Given the description of an element on the screen output the (x, y) to click on. 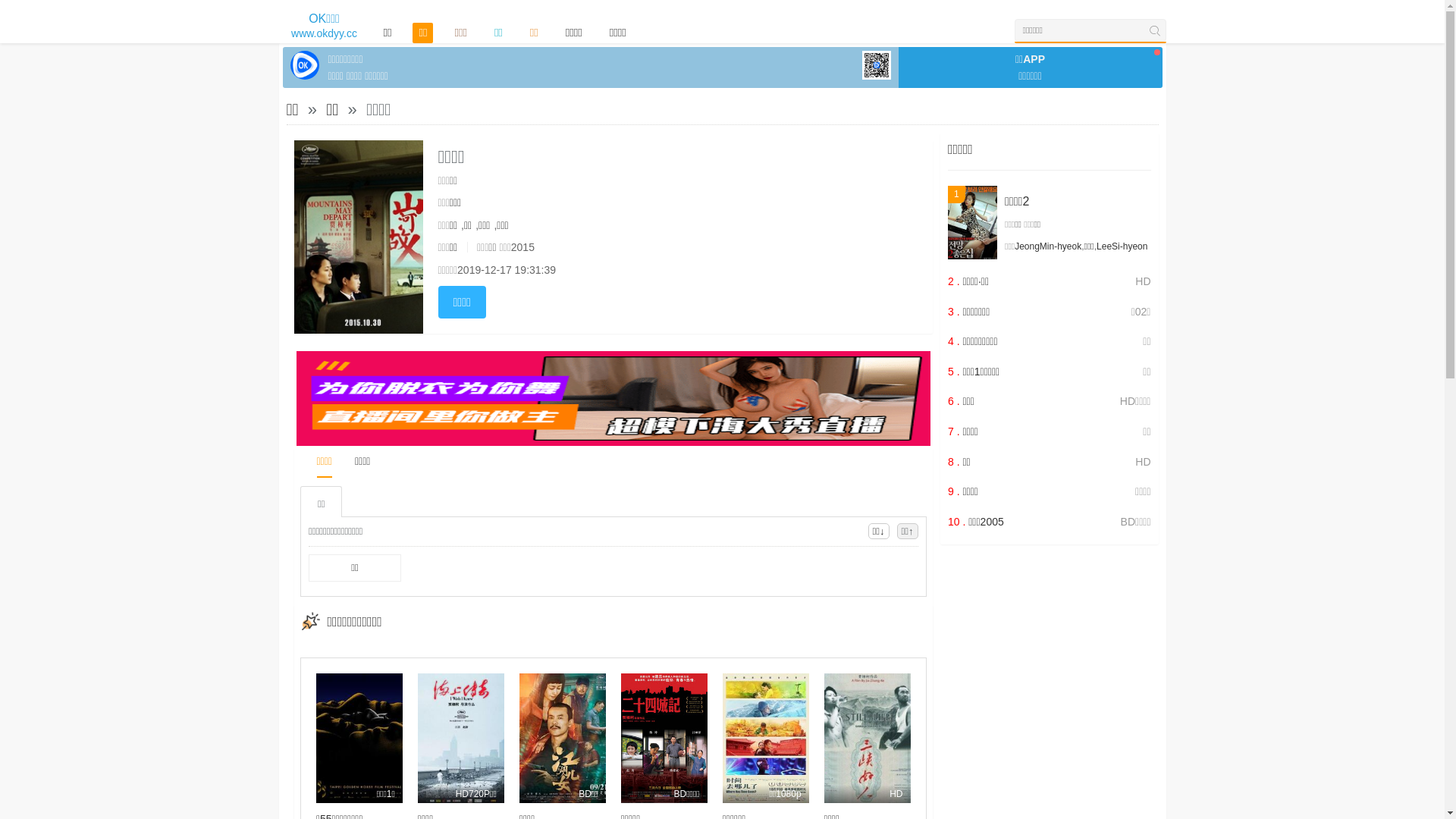
JeongMin-hyeok Element type: text (1047, 246)
HD Element type: text (867, 738)
LeeSi-hyeon Element type: text (1121, 246)
1 Element type: text (972, 222)
